Given the description of an element on the screen output the (x, y) to click on. 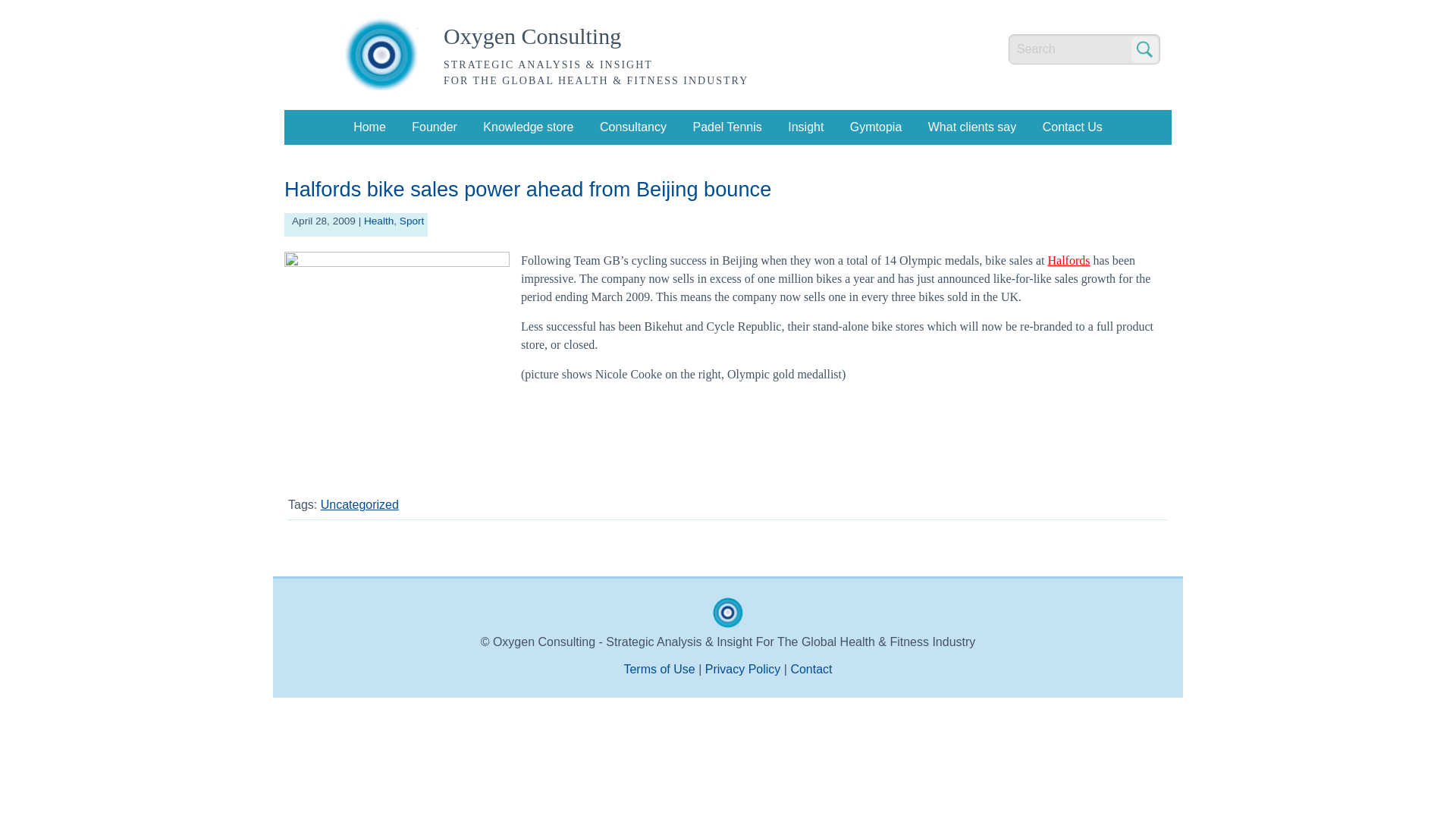
Halfords (1067, 259)
Contact (810, 668)
Privacy Policy (742, 668)
Terms of Use (658, 668)
Consultancy (632, 127)
Sport (411, 220)
Home (369, 127)
Go (1144, 49)
Uncategorized (359, 504)
What clients say (972, 127)
